Given the description of an element on the screen output the (x, y) to click on. 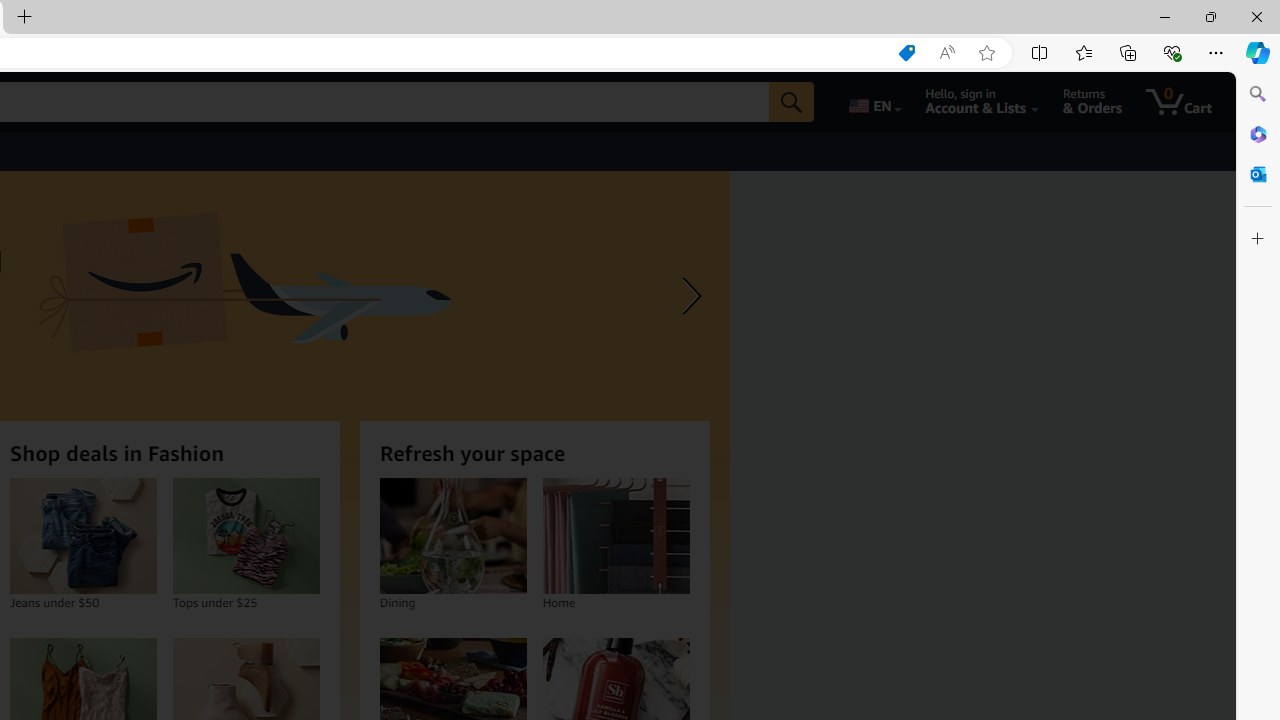
Customize (1258, 239)
Close Outlook pane (1258, 174)
Shopping in Microsoft Edge (906, 53)
